Given the description of an element on the screen output the (x, y) to click on. 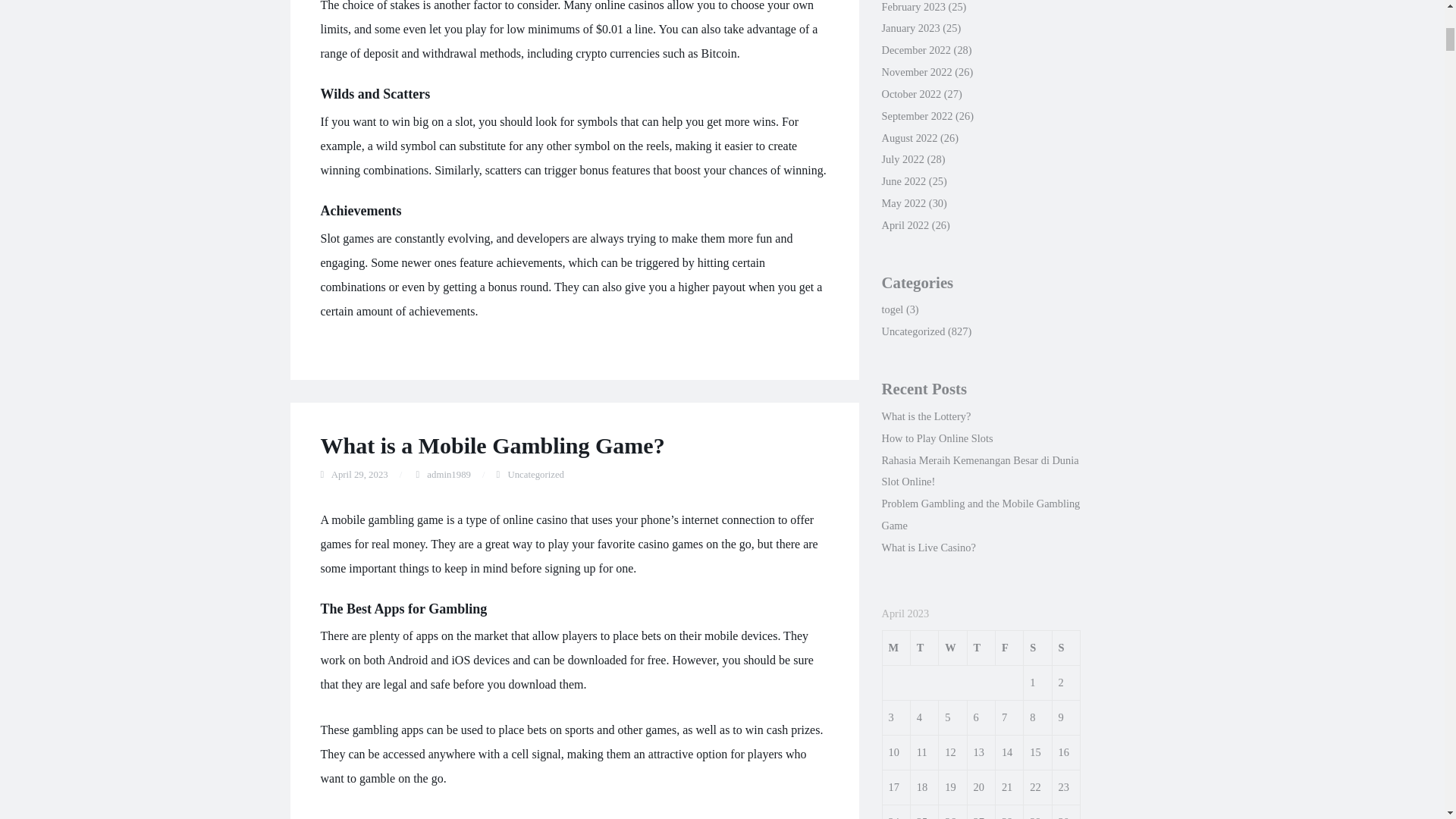
Monday (896, 647)
Saturday (1037, 647)
Tuesday (923, 647)
Friday (1008, 647)
Wednesday (952, 647)
Sunday (1065, 647)
Thursday (980, 647)
Uncategorized (535, 474)
admin1989 (448, 474)
April 29, 2023 (359, 474)
What is a Mobile Gambling Game? (491, 445)
